Given the description of an element on the screen output the (x, y) to click on. 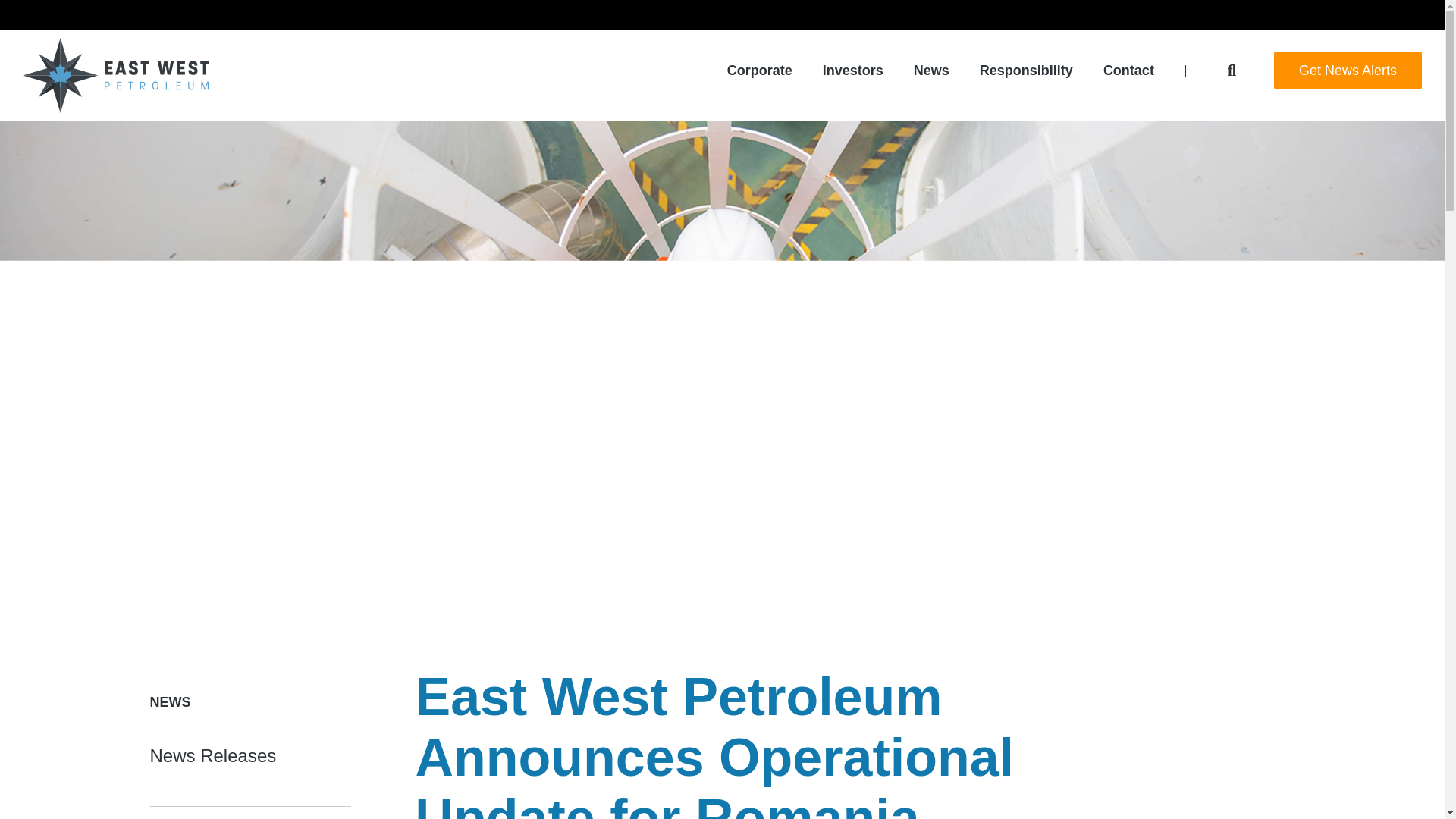
Corporate (759, 70)
Responsibility (1026, 70)
Get News Alerts (1348, 70)
Investors (852, 70)
Subscribe to get news alerts (1348, 70)
Contact (1128, 70)
Corporate (759, 70)
Home Page (115, 75)
News Releases (212, 755)
Responsibility (1026, 70)
News (931, 70)
News (931, 70)
Investors (852, 70)
Contact (1128, 70)
